Given the description of an element on the screen output the (x, y) to click on. 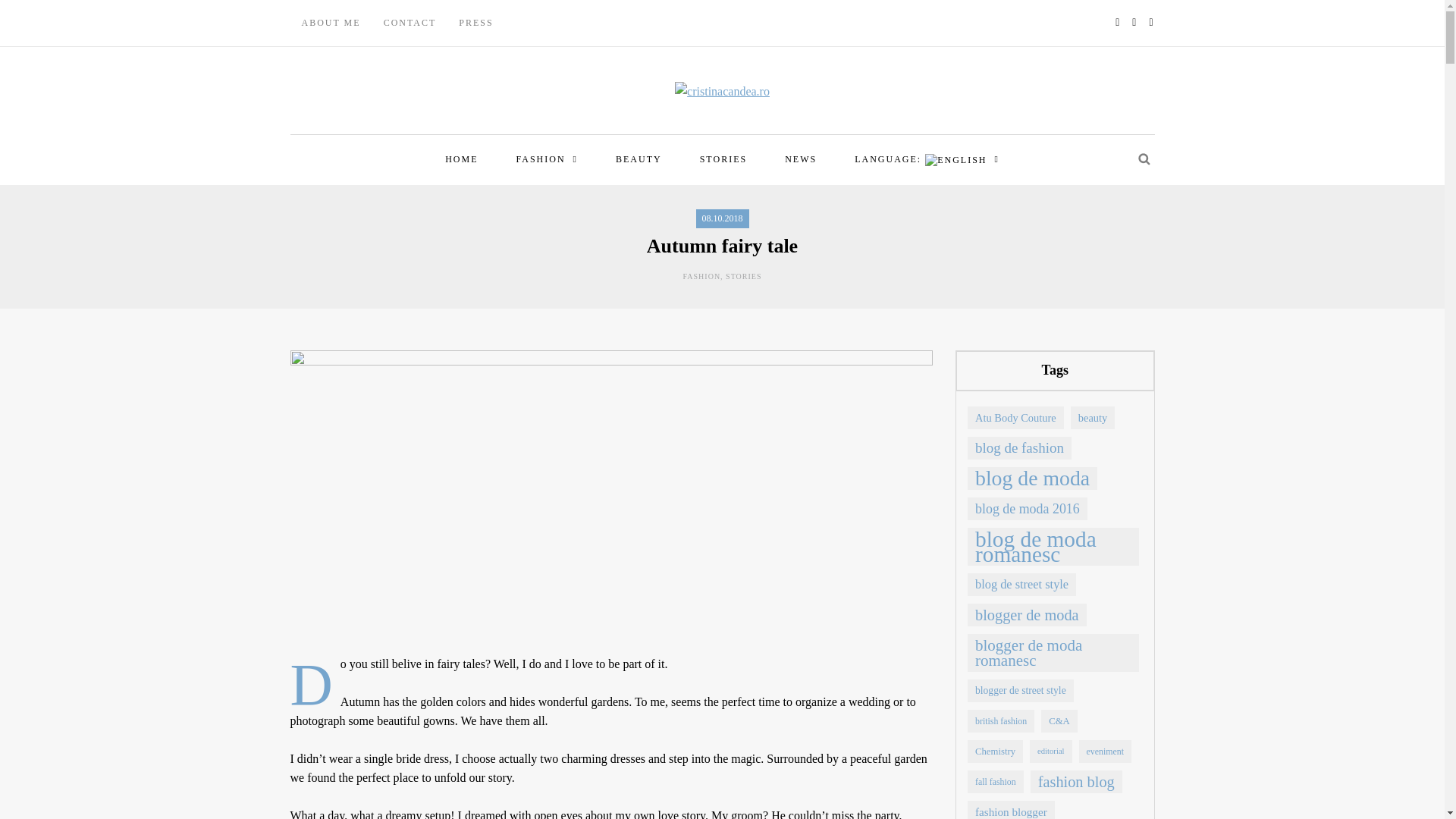
BEAUTY (638, 159)
HOME (461, 159)
STORIES (743, 275)
STORIES (723, 159)
PRESS (474, 22)
news (800, 159)
LANGUAGE:  (926, 159)
FASHION (701, 275)
ABOUT ME (330, 22)
fashion (546, 159)
FASHION (546, 159)
NEWS (800, 159)
CONTACT (410, 22)
English (926, 159)
